Given the description of an element on the screen output the (x, y) to click on. 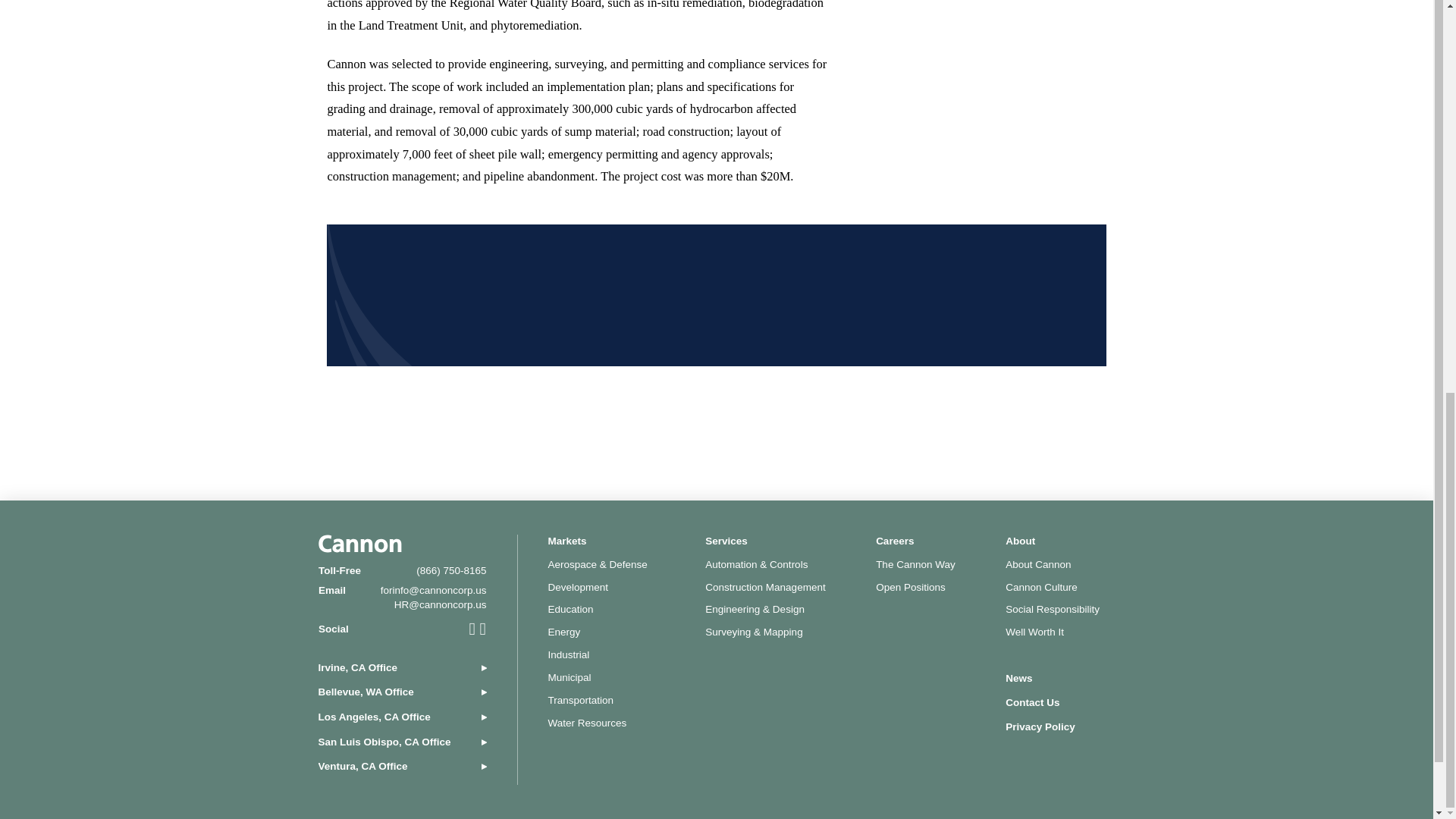
Development (577, 586)
Education (569, 609)
